Given the description of an element on the screen output the (x, y) to click on. 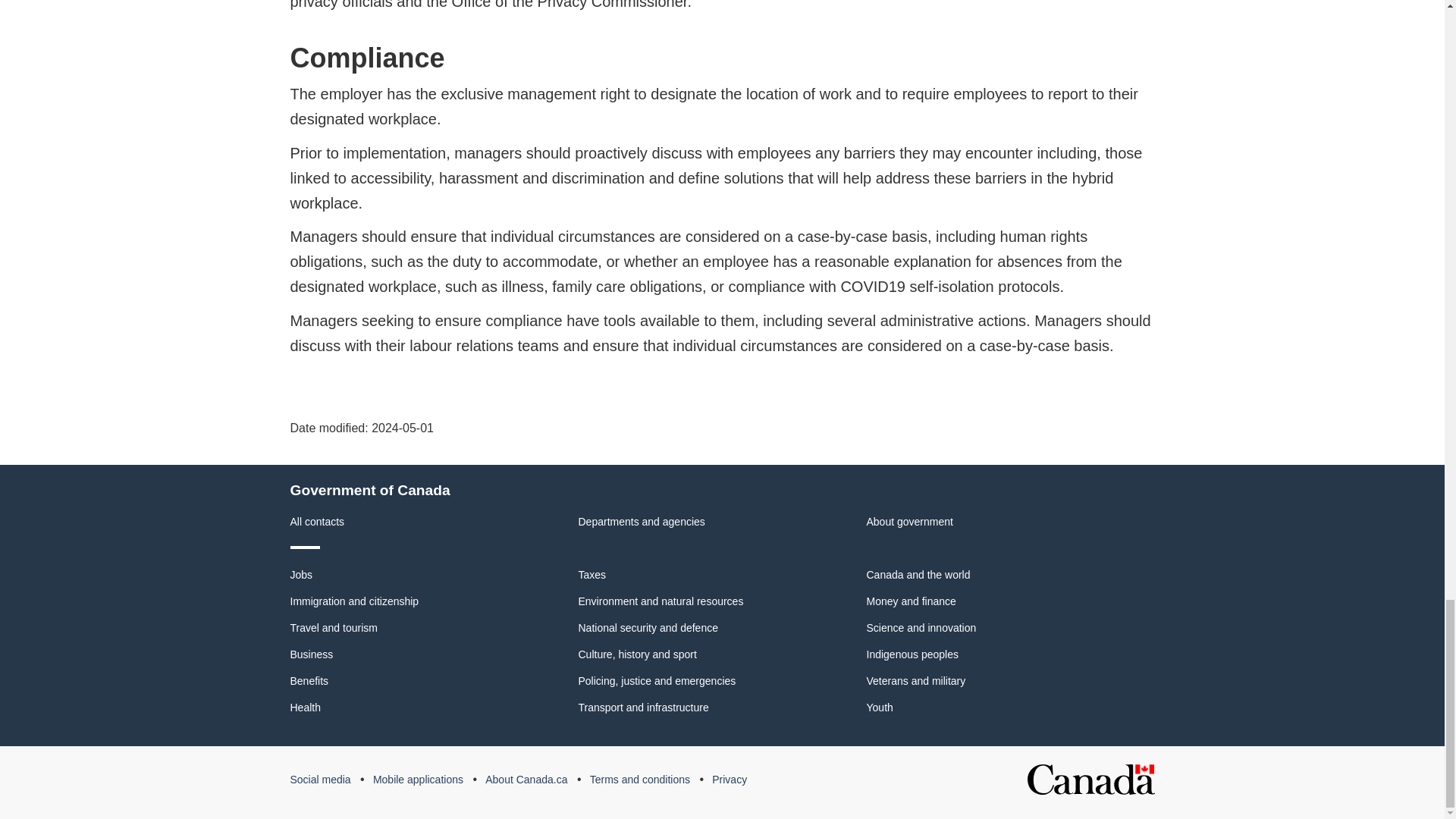
Departments and agencies (641, 521)
Business (311, 654)
Health (304, 707)
Immigration and citizenship (354, 601)
All contacts (316, 521)
Jobs (301, 574)
About government (909, 521)
Benefits (309, 680)
Travel and tourism (333, 627)
